Given the description of an element on the screen output the (x, y) to click on. 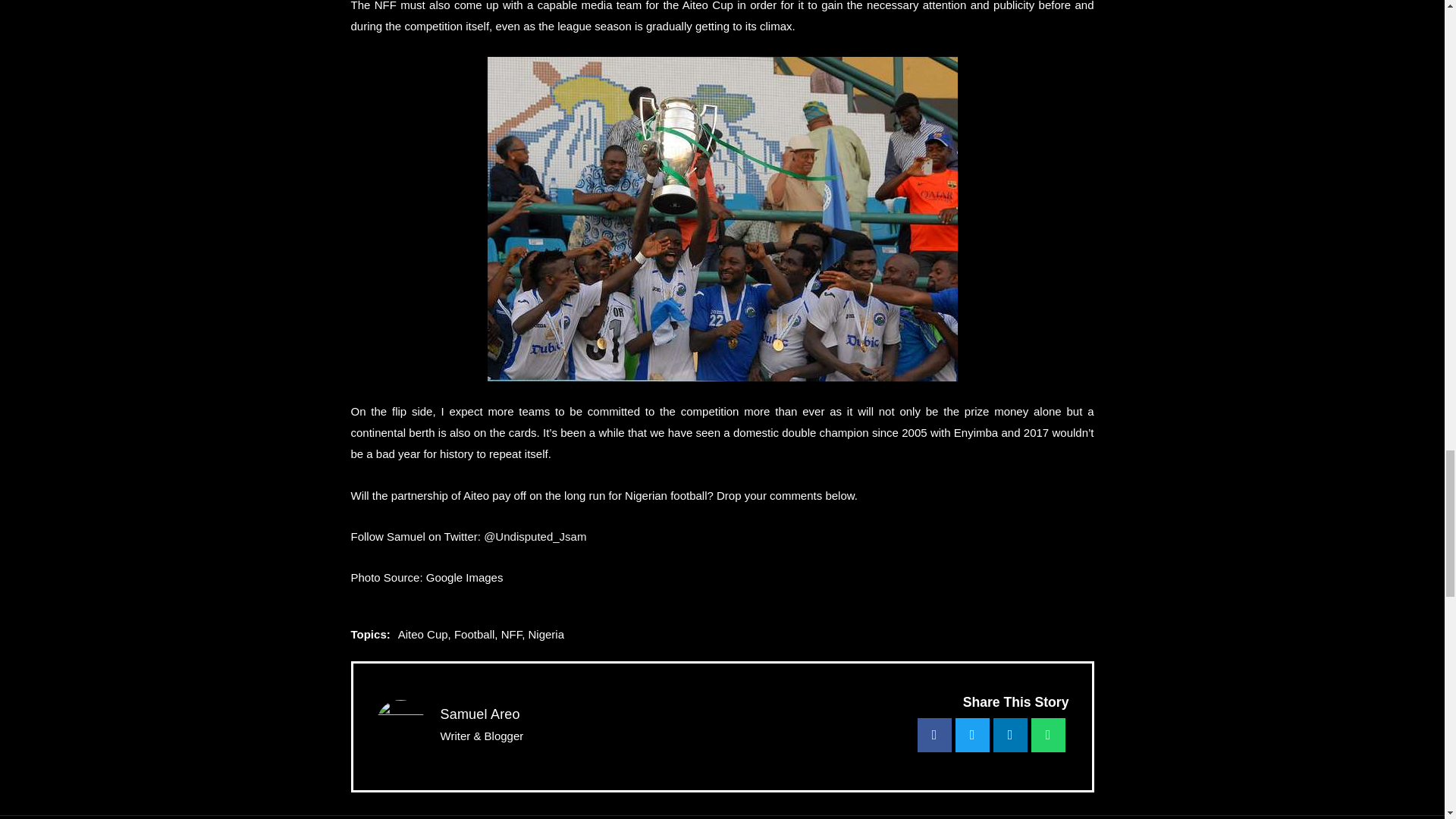
Samuel Areo (479, 713)
